Given the description of an element on the screen output the (x, y) to click on. 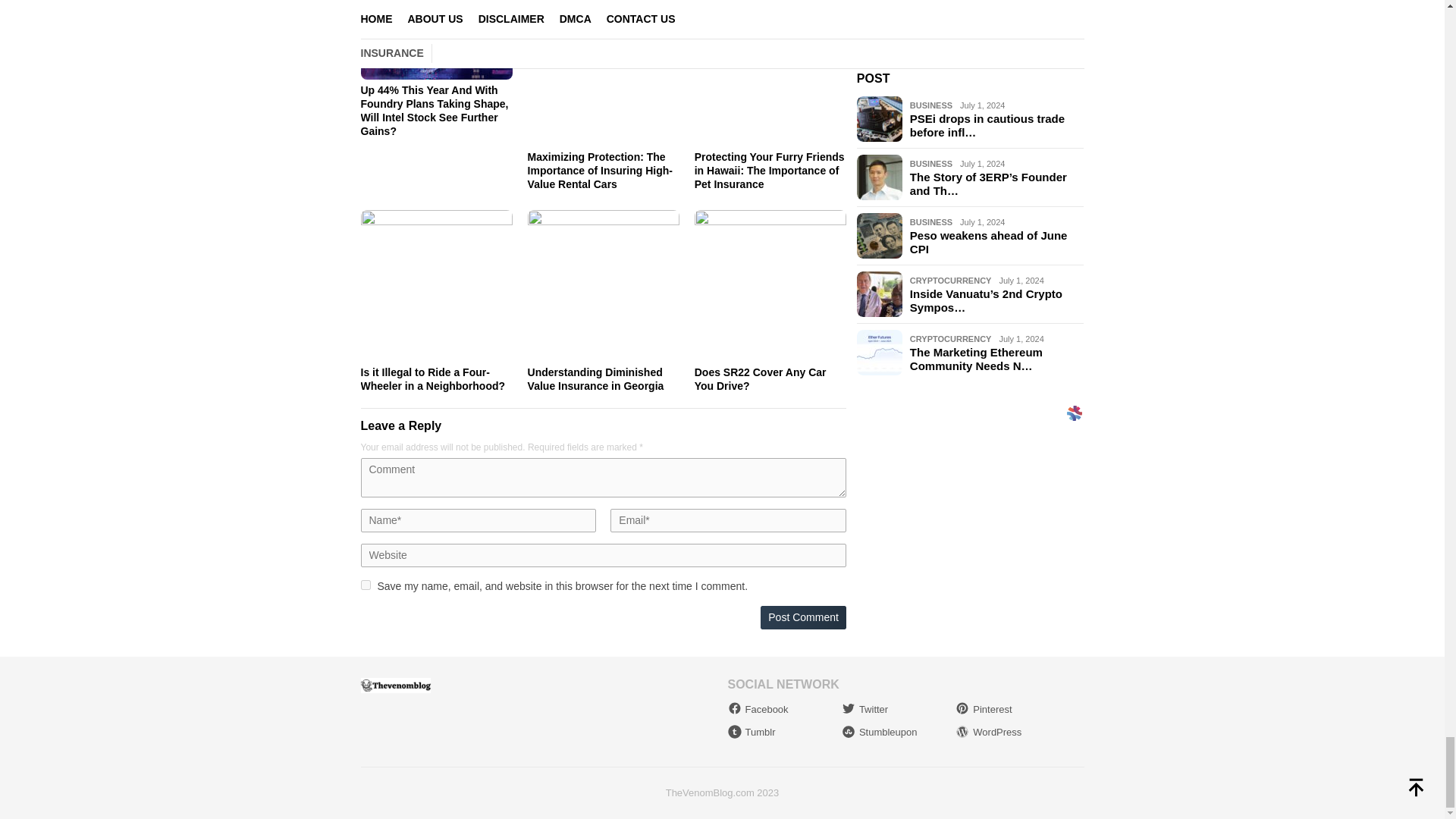
Is it Illegal to Ride a Four-Wheeler in a Neighborhood? (433, 379)
yes (366, 584)
Understanding Diminished Value Insurance in Georgia (595, 379)
Post Comment (802, 617)
